Given the description of an element on the screen output the (x, y) to click on. 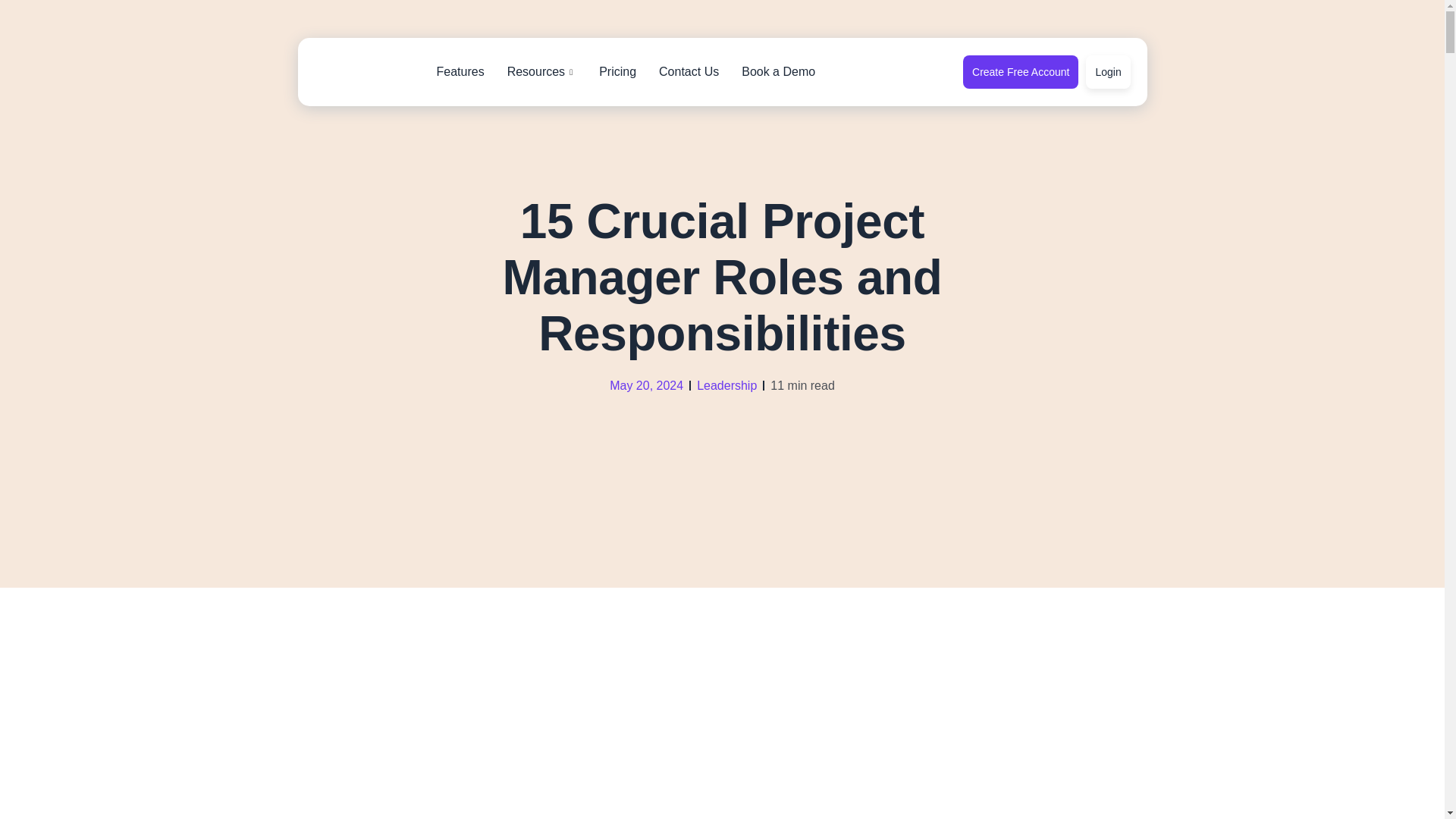
Login (1107, 71)
Pricing (617, 71)
Resources (542, 71)
Leadership (727, 385)
May 20, 2024 (646, 384)
Features (460, 71)
Contact Us (688, 71)
Create Free Account (1020, 71)
Book a Demo (778, 71)
